Given the description of an element on the screen output the (x, y) to click on. 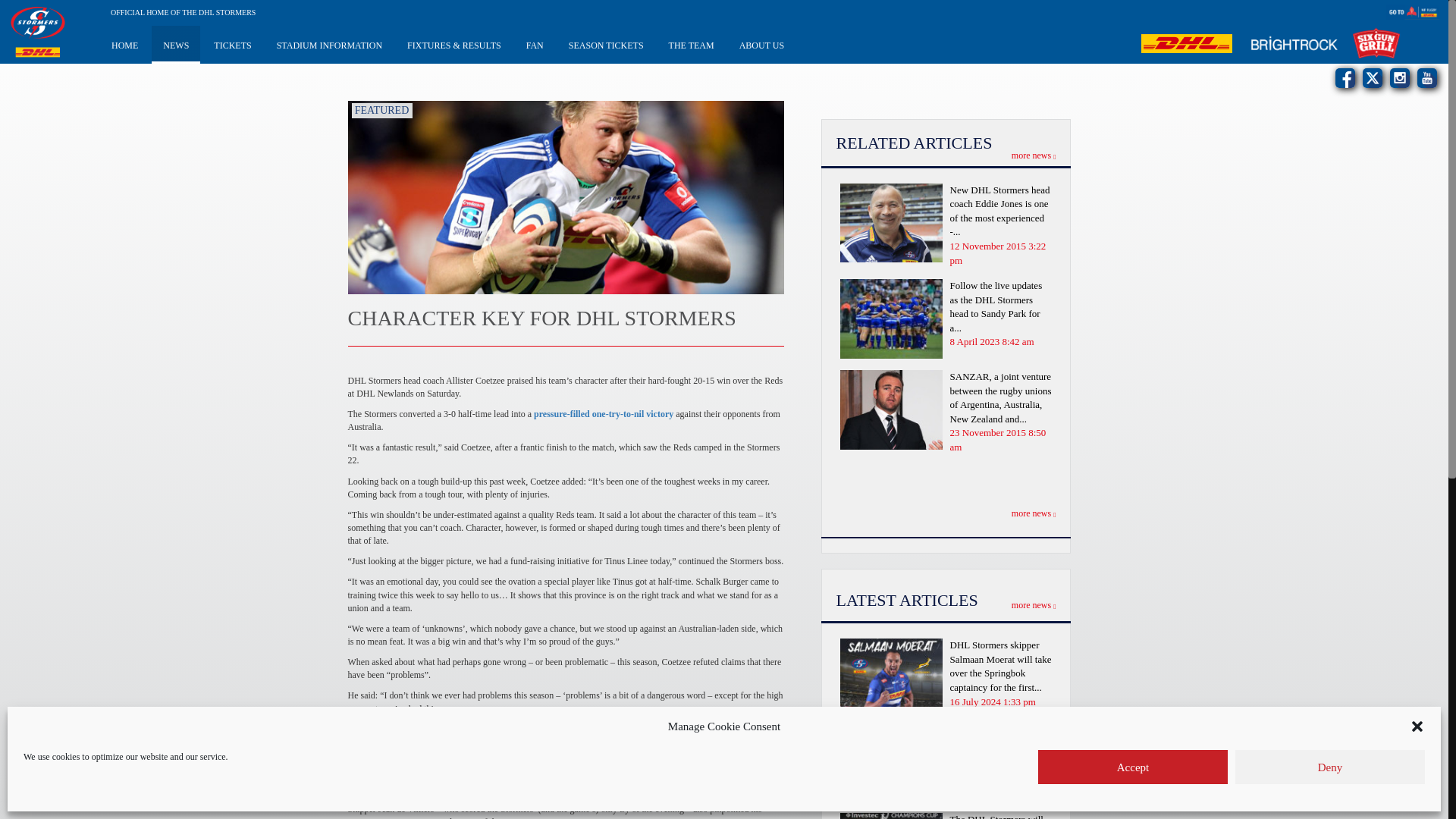
ABOUT US (761, 44)
TICKETS (232, 44)
THE TEAM (691, 44)
pressure-filled one-try-to-nil victory (603, 413)
more news (1034, 154)
Deny (1329, 766)
SEASON TICKETS (606, 44)
Accept (1132, 766)
DHL Stormers hold out for win (603, 413)
STADIUM INFORMATION (328, 44)
